Given the description of an element on the screen output the (x, y) to click on. 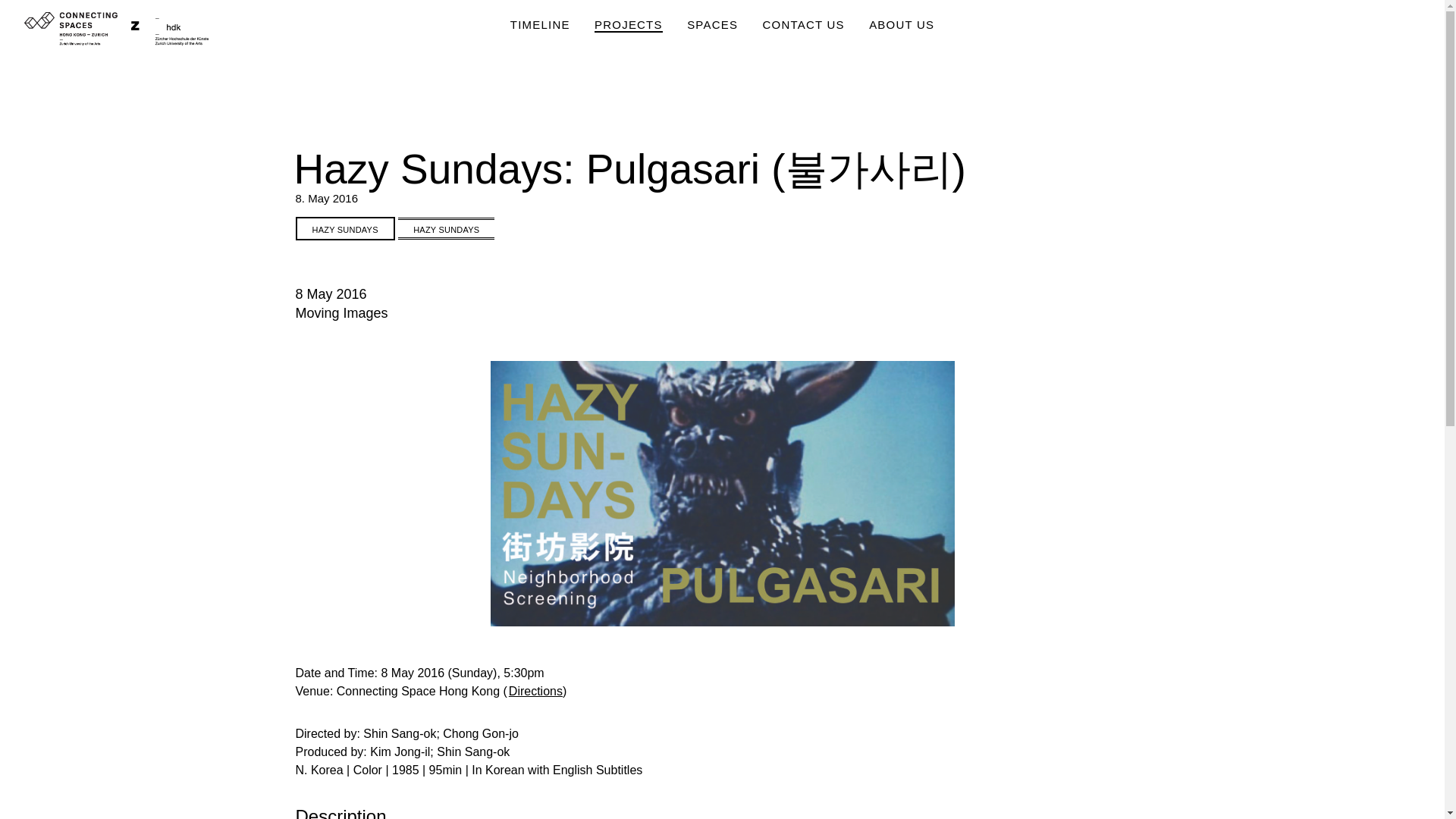
TIMELINE (540, 25)
ABOUT US (901, 25)
Directions (535, 691)
HAZY SUNDAYS (344, 228)
CONTACT US (803, 25)
SPACES (712, 25)
PROJECTS (628, 25)
HAZY SUNDAYS (446, 228)
